Given the description of an element on the screen output the (x, y) to click on. 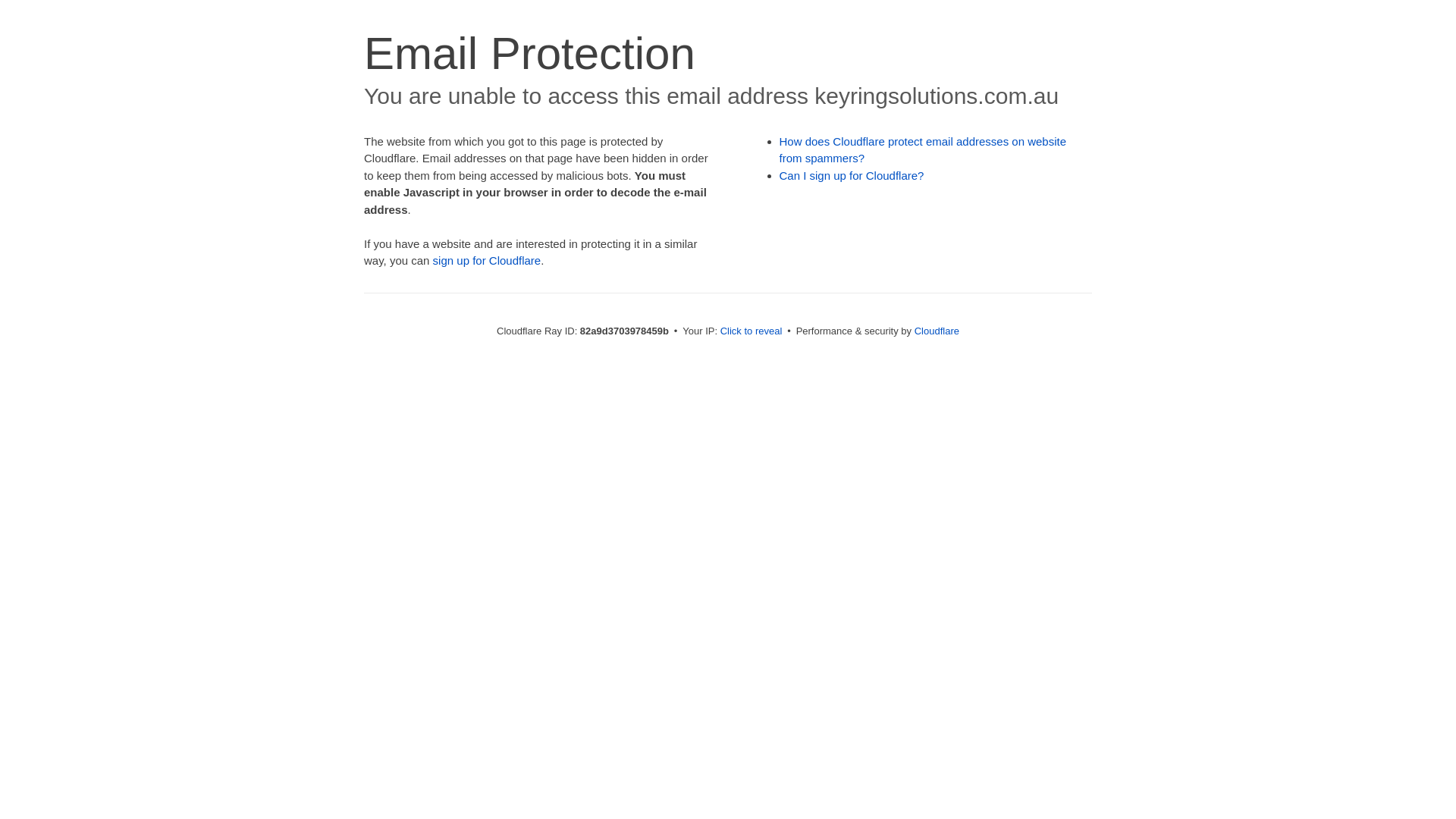
sign up for Cloudflare Element type: text (487, 260)
Cloudflare Element type: text (936, 330)
Click to reveal Element type: text (751, 330)
Can I sign up for Cloudflare? Element type: text (851, 175)
